Given the description of an element on the screen output the (x, y) to click on. 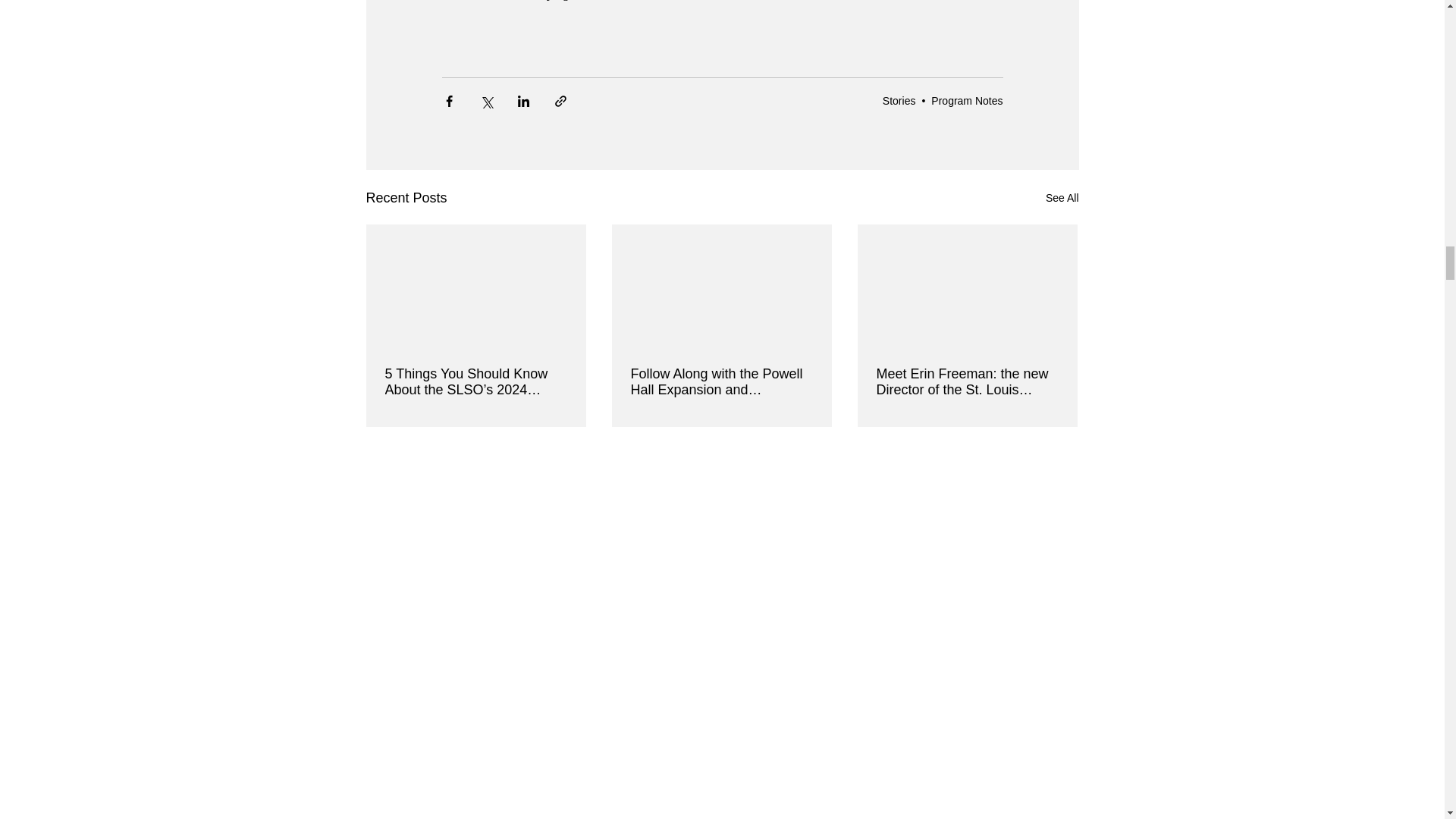
Follow Along with the Powell Hall Expansion and Renovation (721, 382)
See All (1061, 198)
Stories (898, 100)
Program Notes (967, 100)
